Given the description of an element on the screen output the (x, y) to click on. 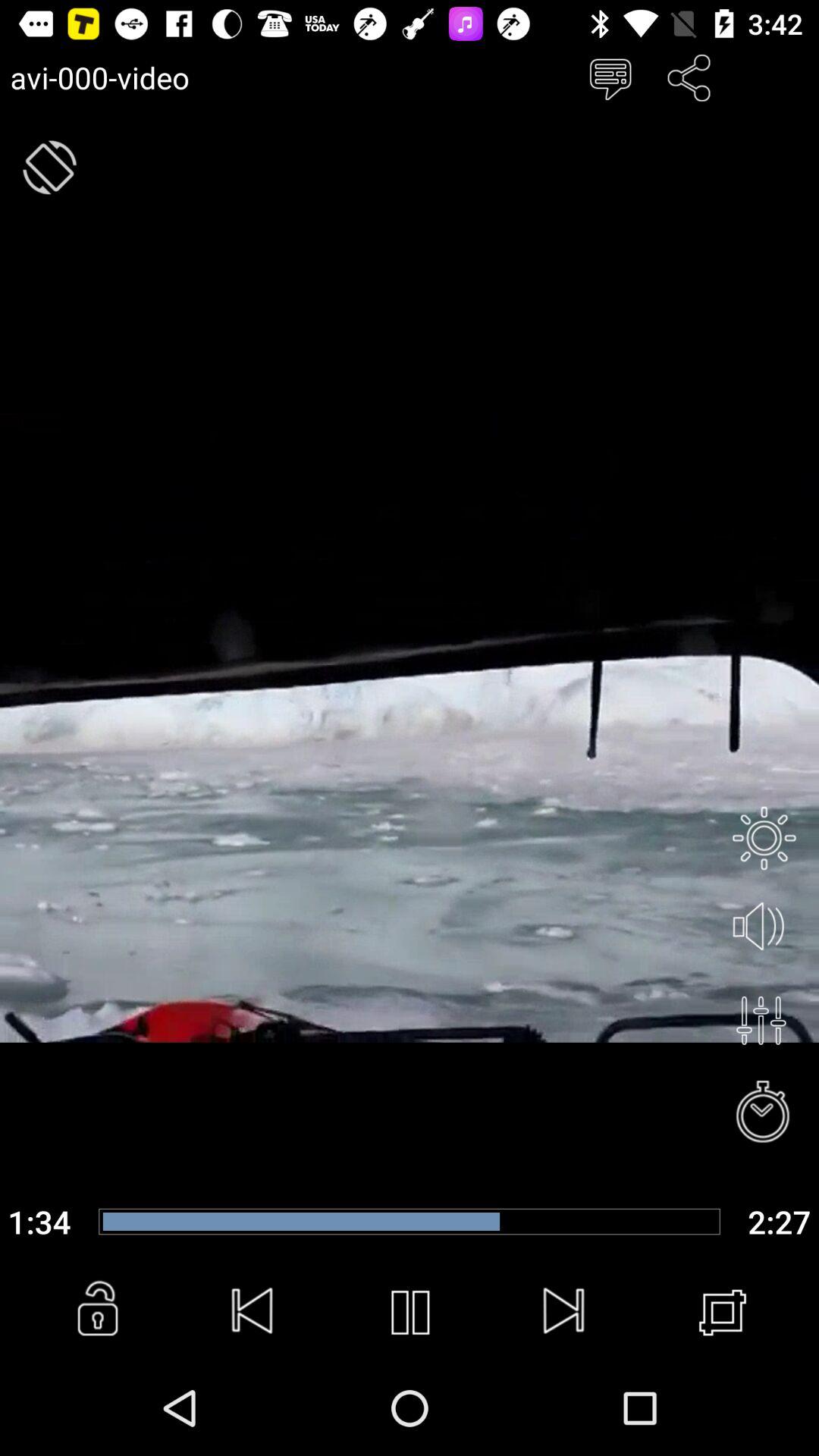
setting page (764, 838)
